Given the description of an element on the screen output the (x, y) to click on. 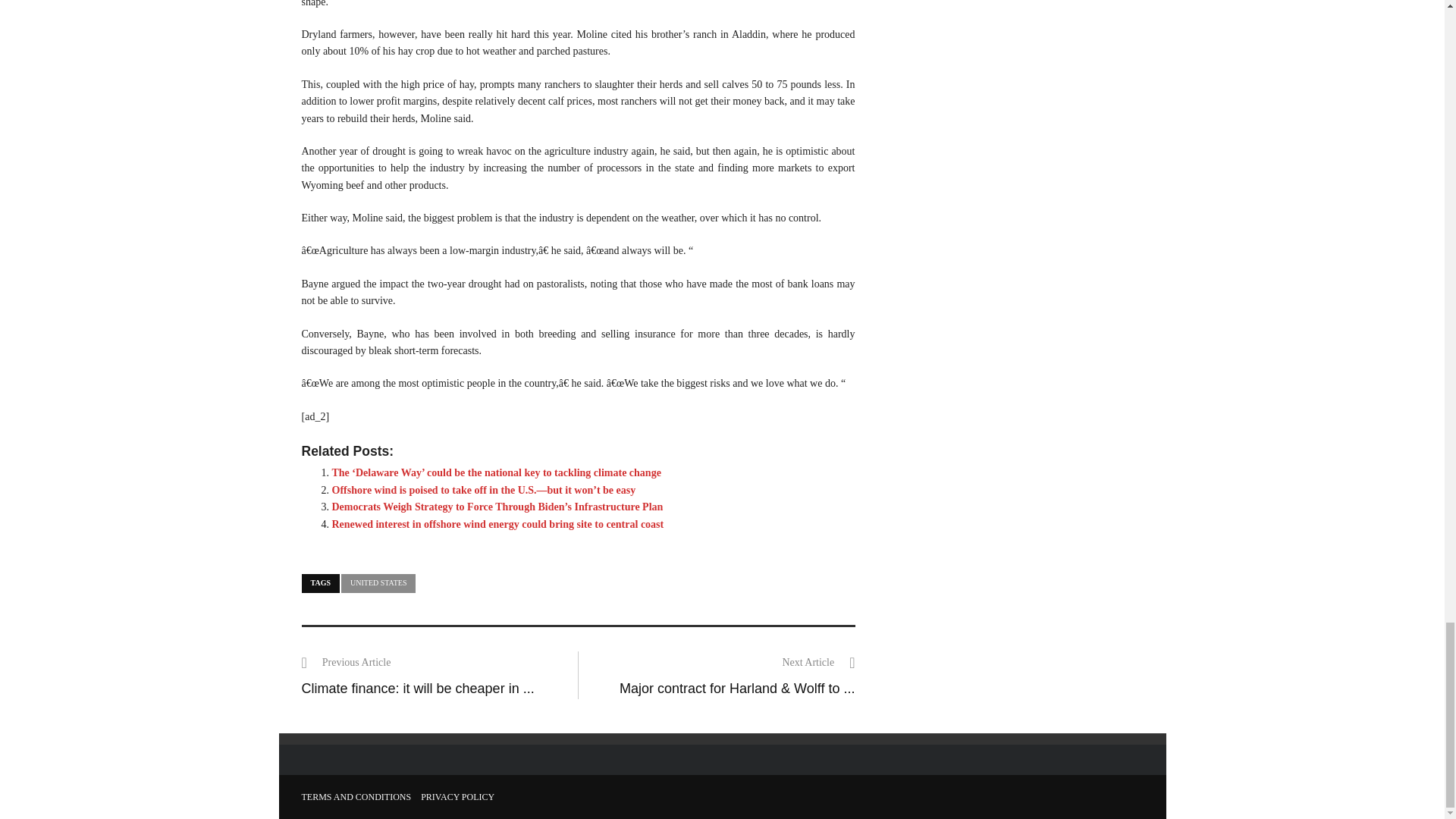
PRIVACY POLICY (457, 796)
UNITED STATES (377, 583)
Climate finance: it will be cheaper in ... (417, 688)
View all posts tagged united states (377, 583)
TERMS AND CONDITIONS (356, 796)
